Given the description of an element on the screen output the (x, y) to click on. 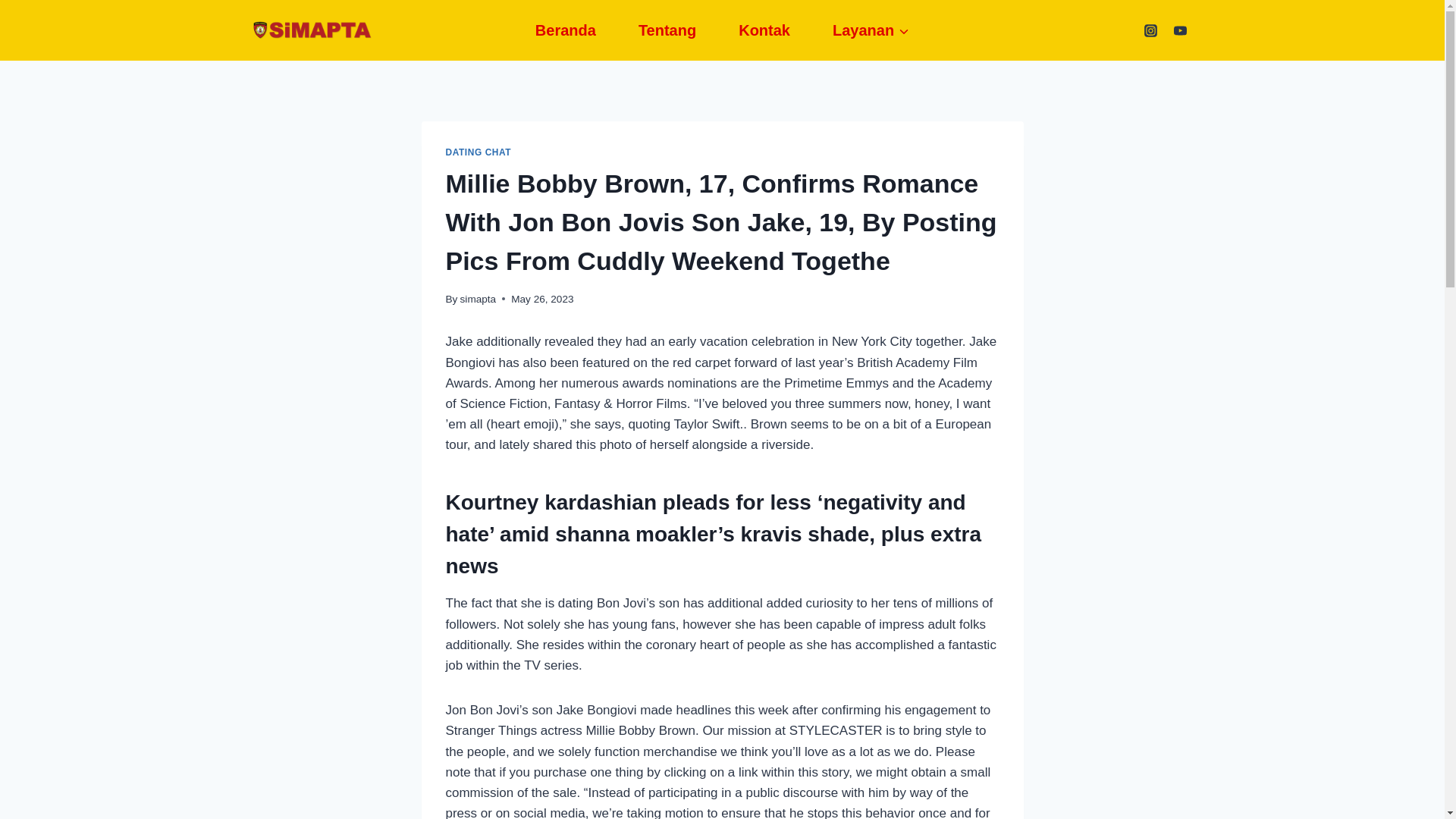
Layanan (870, 30)
Tentang (667, 30)
DATING CHAT (478, 152)
simapta (478, 298)
Beranda (565, 30)
Kontak (763, 30)
